Given the description of an element on the screen output the (x, y) to click on. 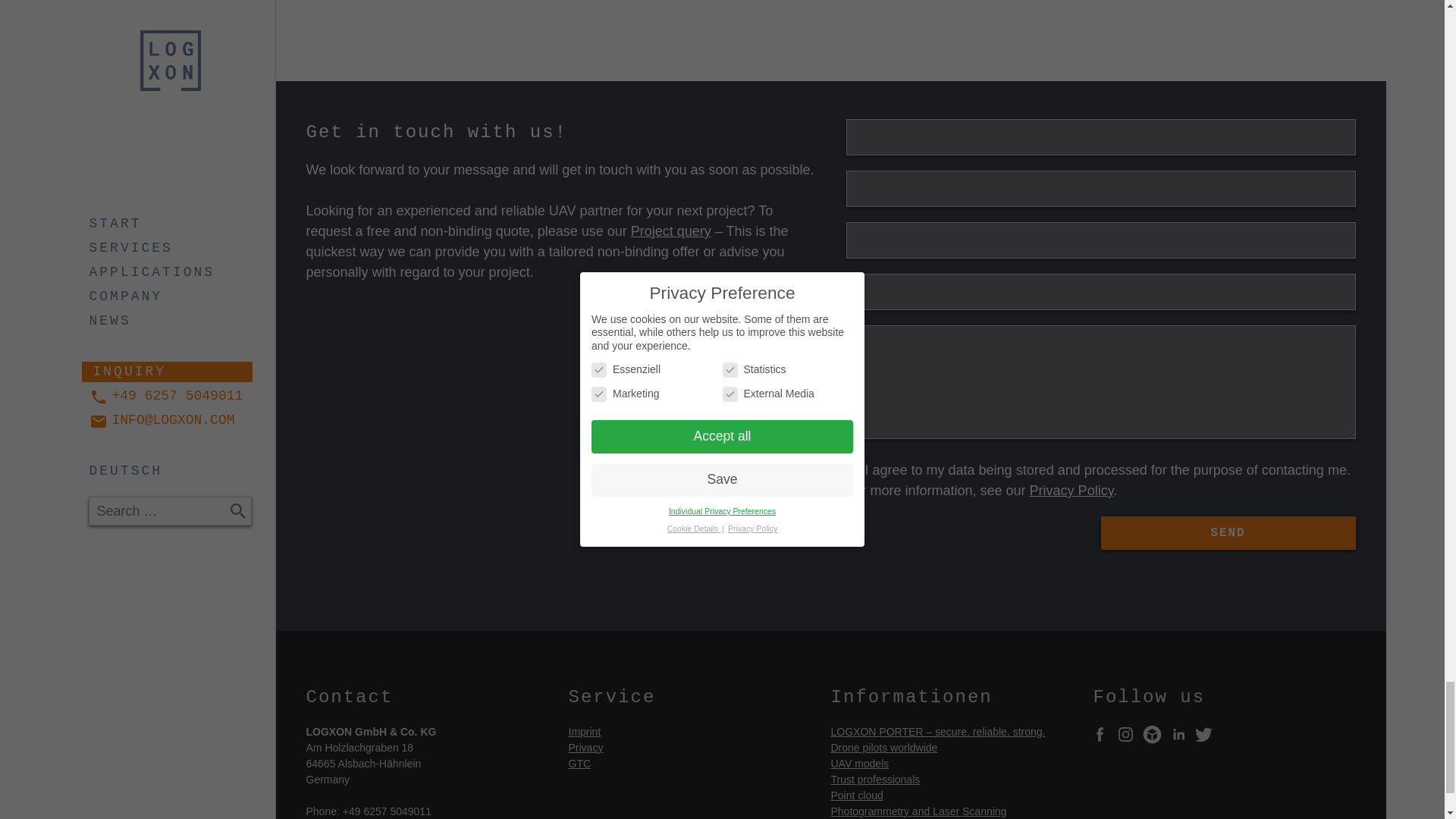
Privacy (586, 747)
Send (1227, 532)
UAV models (860, 763)
Point cloud (857, 795)
Project query (670, 231)
Send (1227, 532)
GTC (580, 763)
Trust professionals (875, 779)
Privacy Policy (1071, 490)
1 (853, 470)
